Given the description of an element on the screen output the (x, y) to click on. 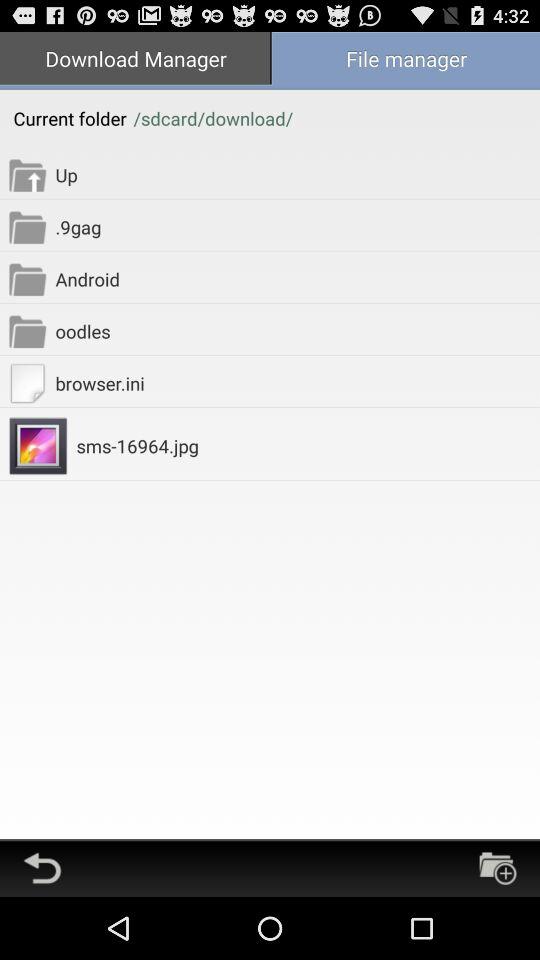
open a new folder (498, 868)
